Given the description of an element on the screen output the (x, y) to click on. 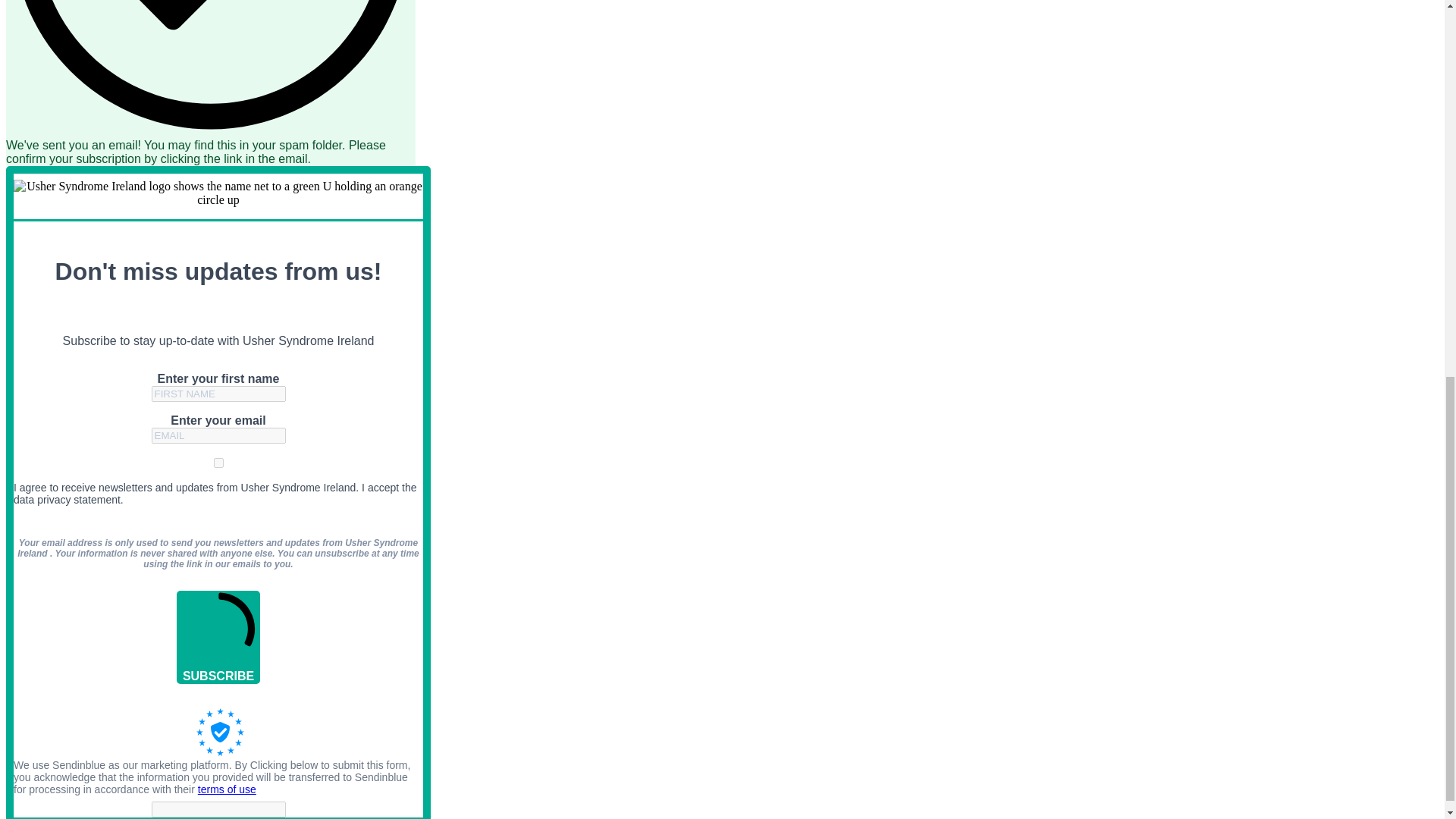
terms of use (227, 788)
1 (219, 462)
SUBSCRIBE (218, 636)
